Given the description of an element on the screen output the (x, y) to click on. 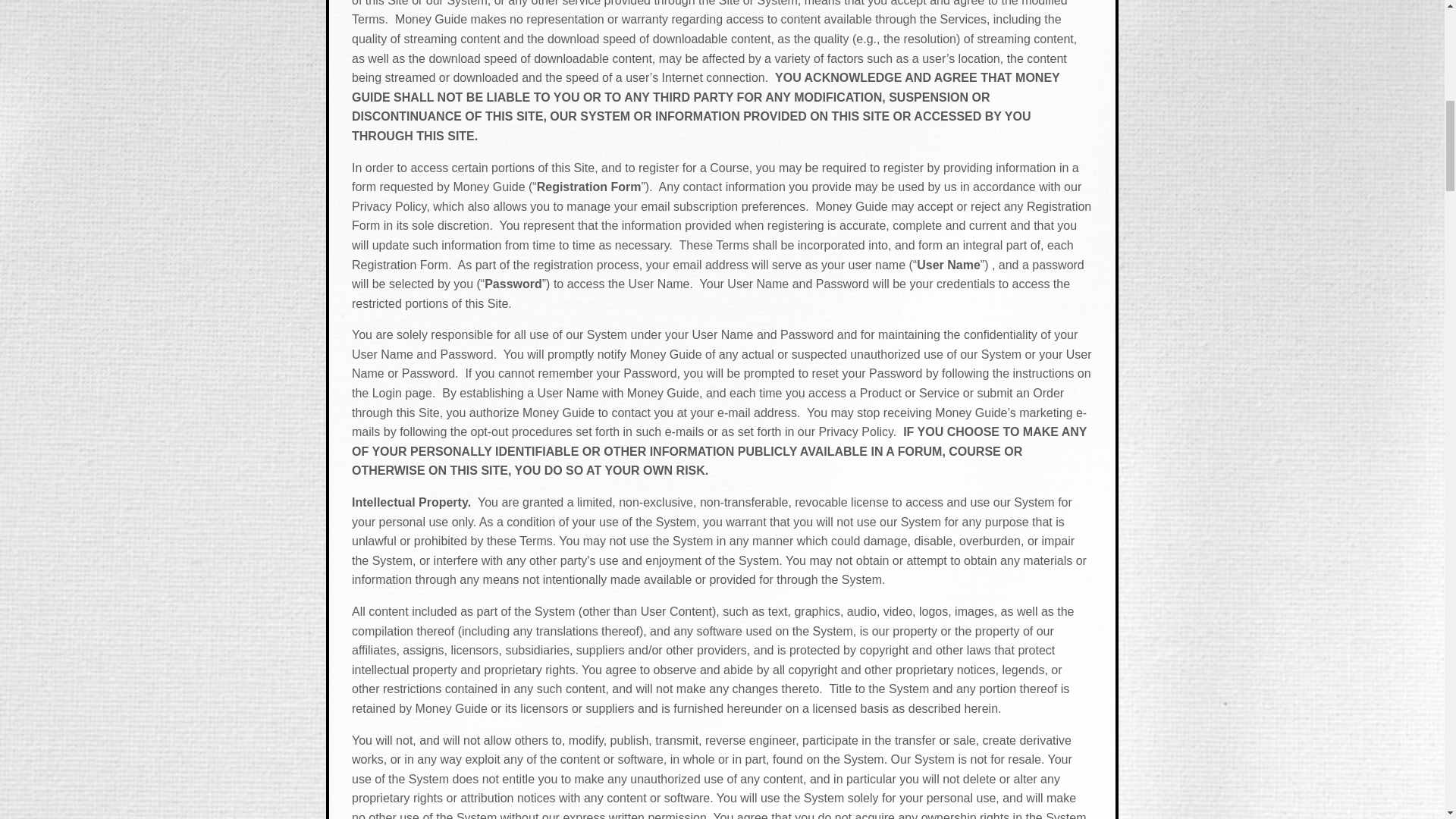
Privacy Policy (389, 205)
Privacy Policy (855, 431)
